Given the description of an element on the screen output the (x, y) to click on. 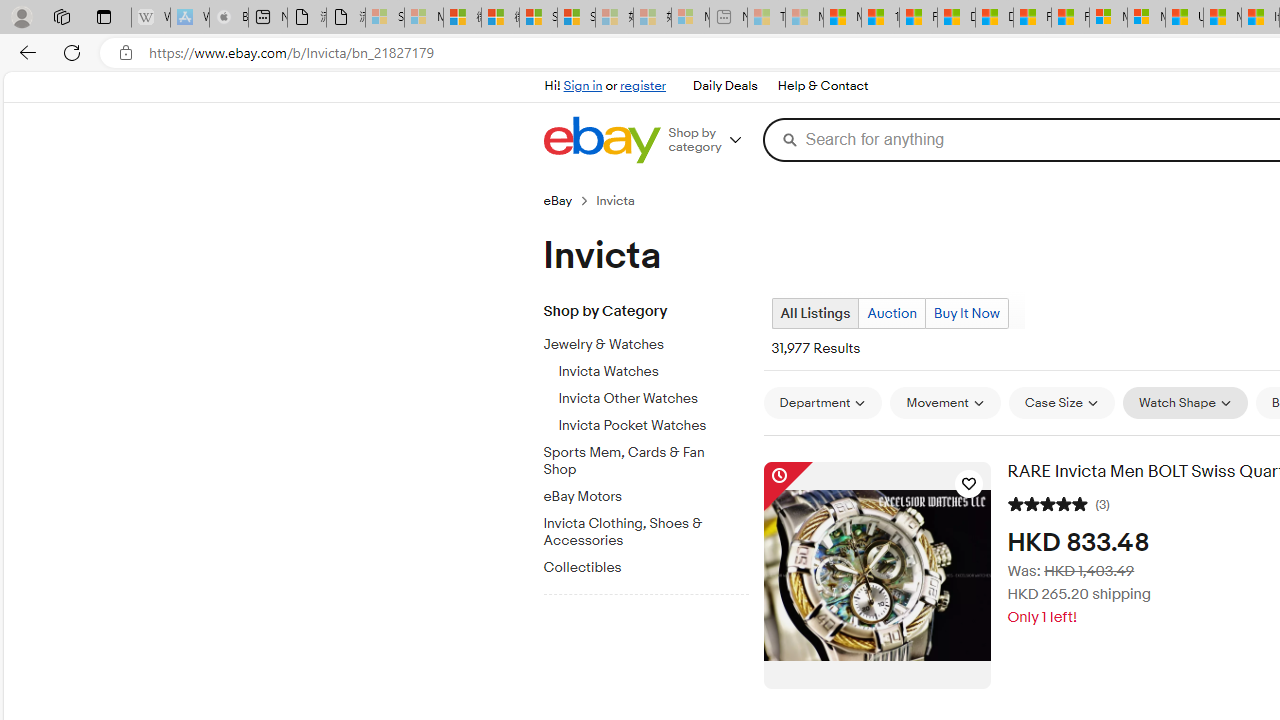
Invicta Watches (653, 368)
Daily Deals (724, 86)
Department (822, 402)
Help & Contact (821, 85)
Invicta Other Watches (653, 395)
All Listings (814, 313)
Case Size (1061, 402)
eBay Motors (637, 497)
Watch Shape (1185, 402)
Microsoft Services Agreement - Sleeping (423, 17)
Buy iPad - Apple - Sleeping (228, 17)
